Given the description of an element on the screen output the (x, y) to click on. 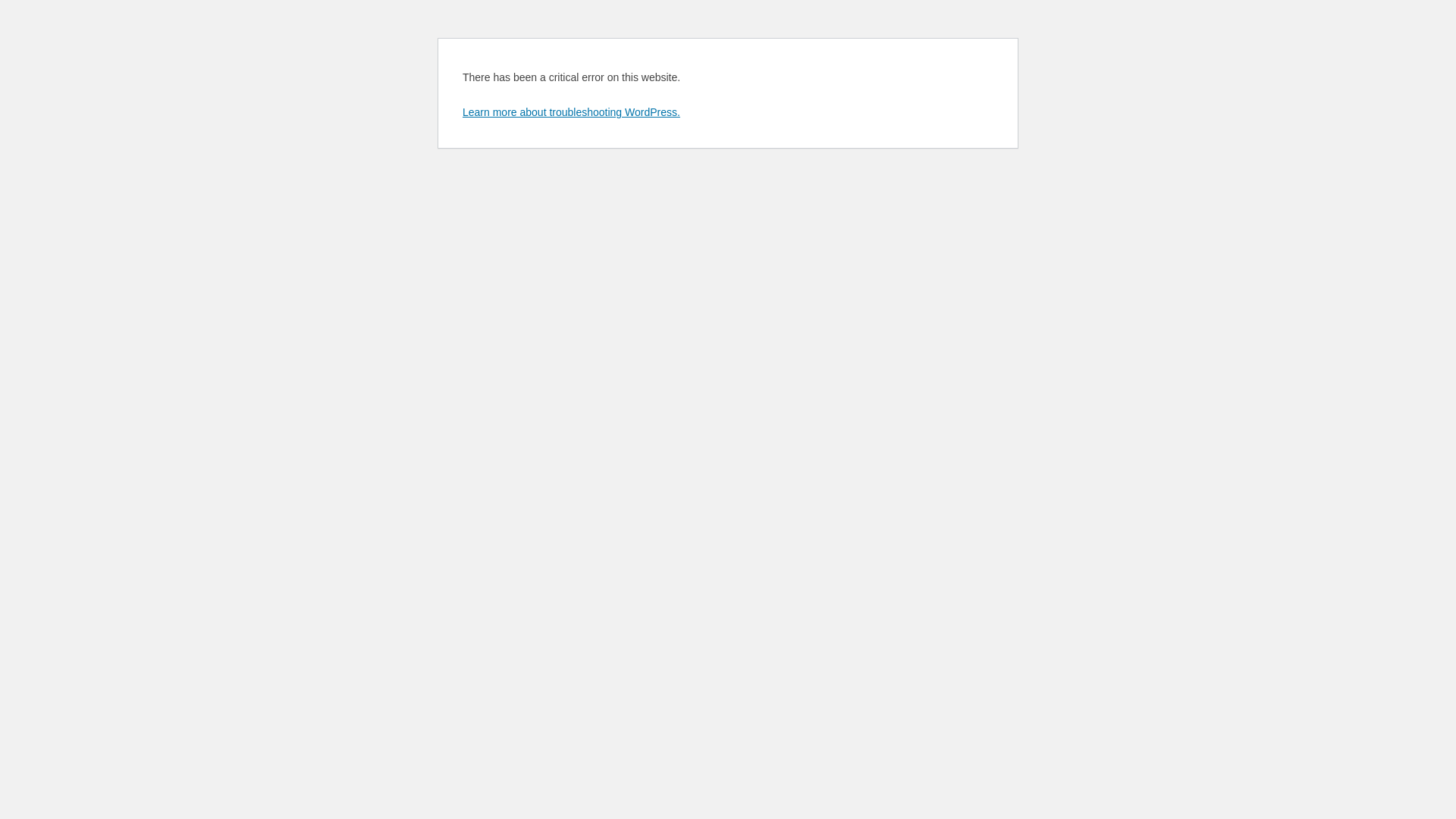
Learn more about troubleshooting WordPress. Element type: text (571, 112)
